Given the description of an element on the screen output the (x, y) to click on. 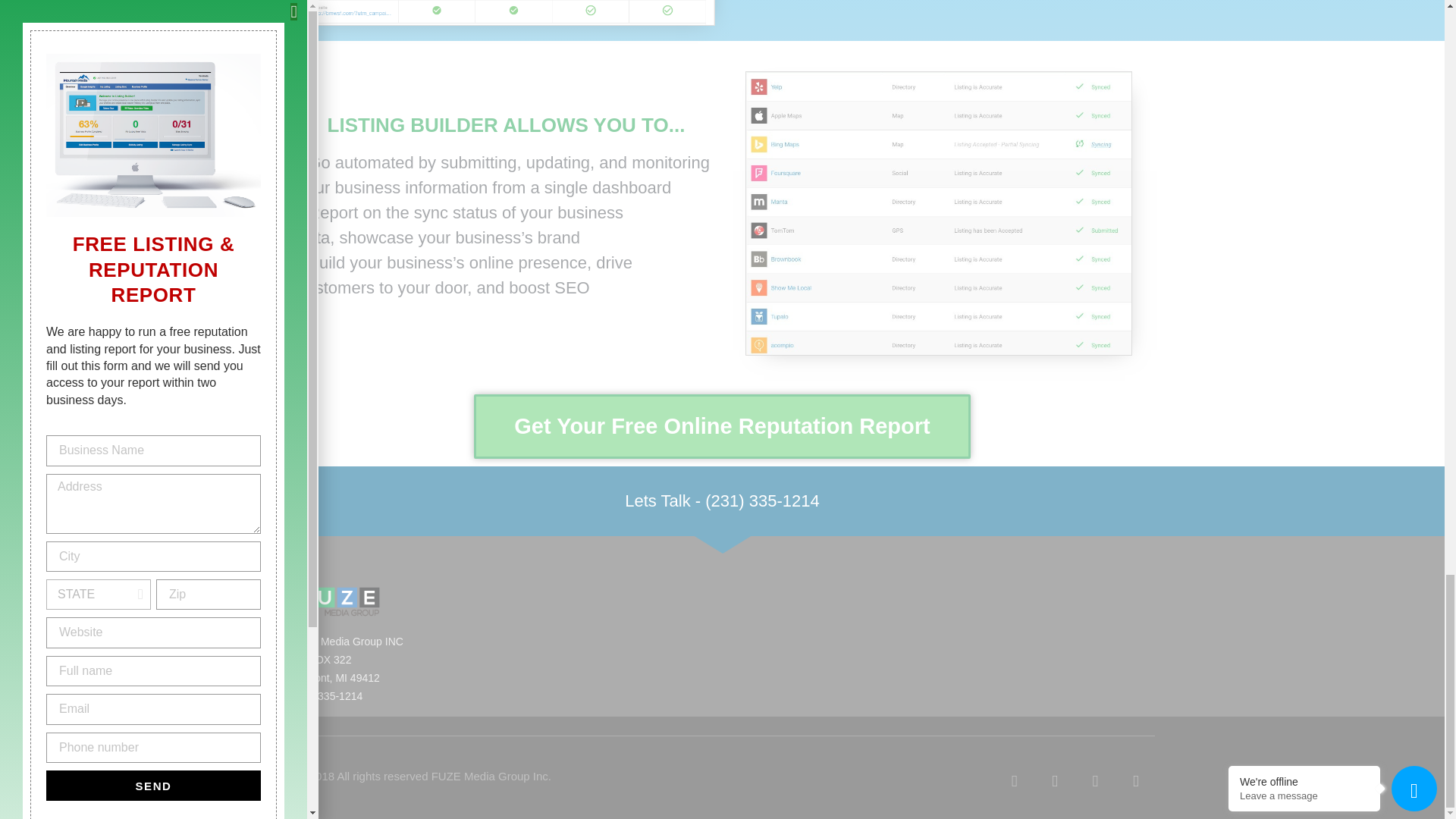
Get Your Free Online Reputation Report (721, 425)
